Given the description of an element on the screen output the (x, y) to click on. 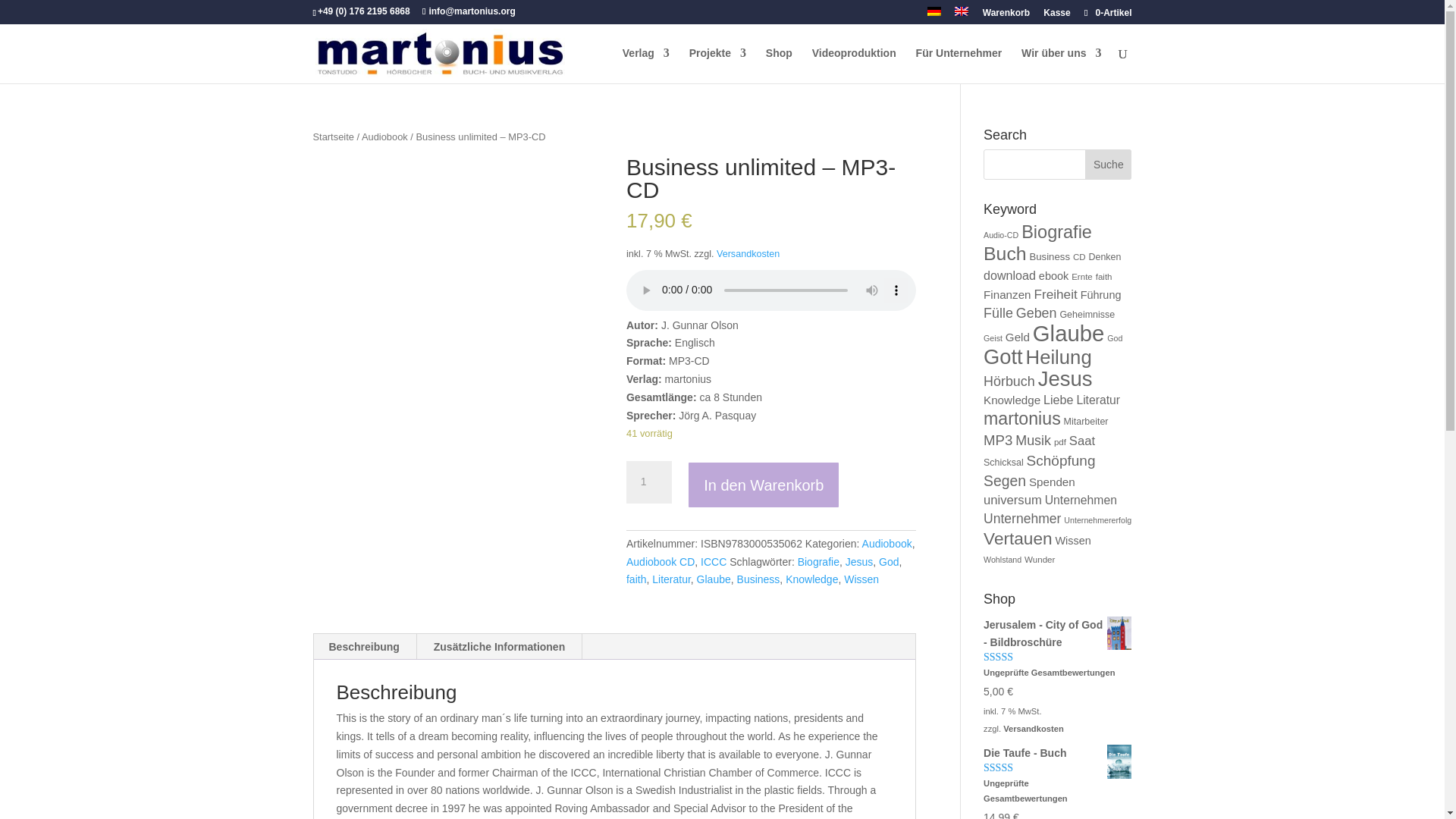
Suche (1107, 164)
ICCC (713, 562)
Kasse (1056, 16)
Biografie (818, 562)
Audiobook CD (660, 562)
Projekte (716, 65)
Verlag (646, 65)
Versandkosten (747, 253)
Warenkorb (1005, 16)
Startseite (333, 136)
